Given the description of an element on the screen output the (x, y) to click on. 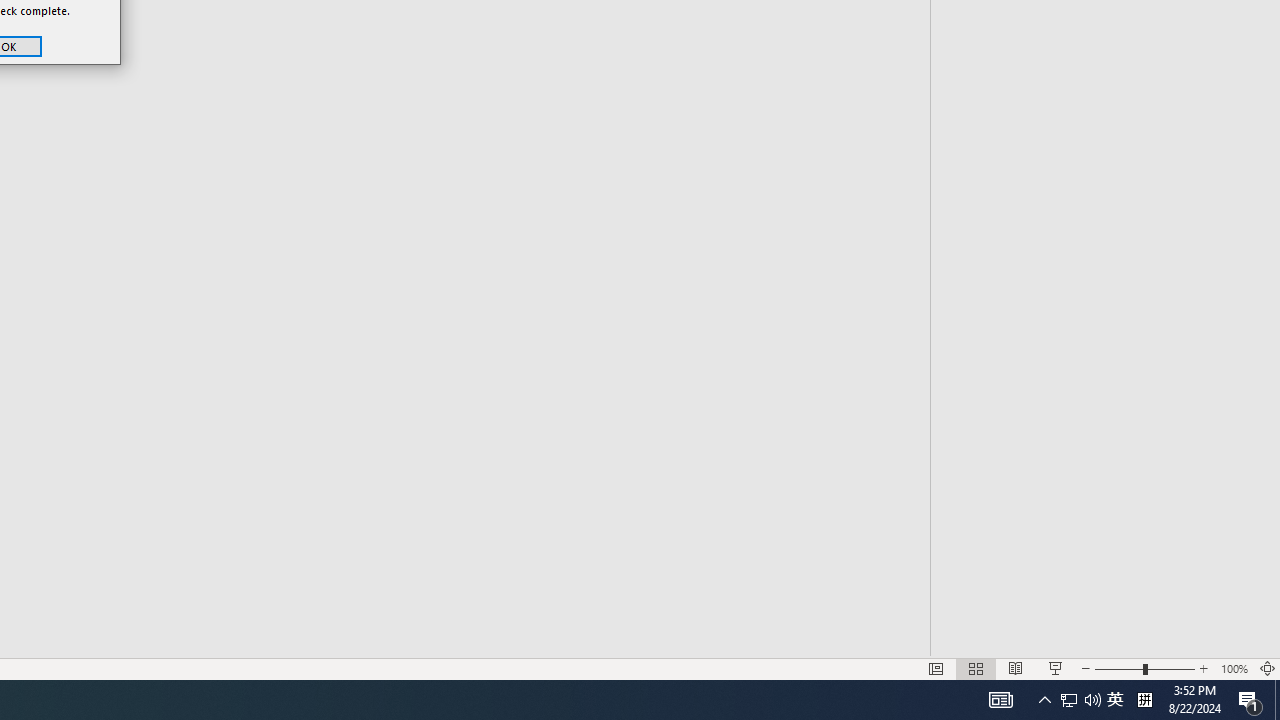
Focus  (786, 640)
Poe (201, 687)
Zoom Out (1081, 640)
Zoom In (1204, 640)
Use full width characters (204, 104)
Cancel (347, 176)
